Given the description of an element on the screen output the (x, y) to click on. 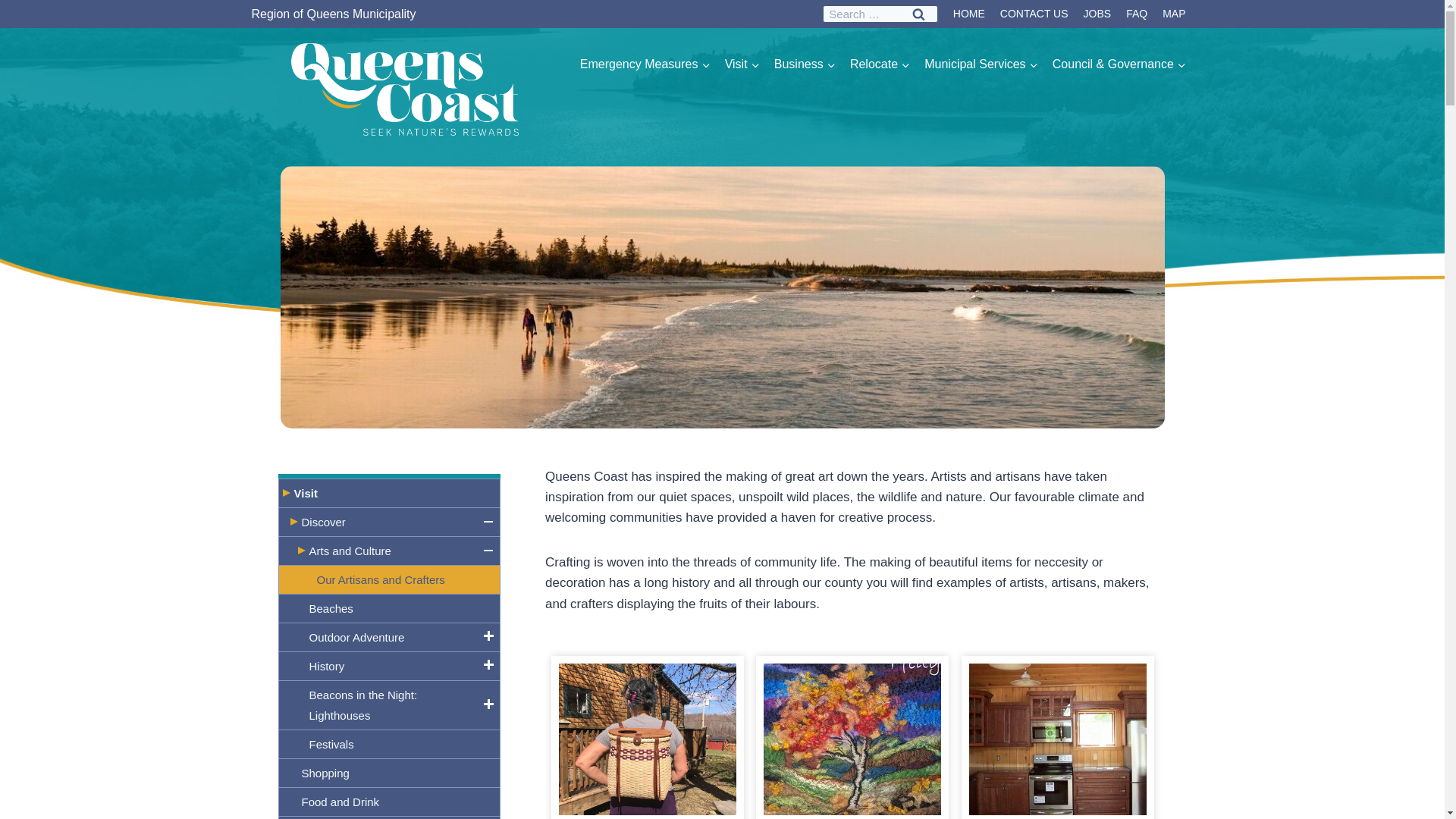
Visit (742, 63)
HOME (968, 13)
Search (918, 14)
JOBS (1097, 13)
Search (918, 14)
Search (918, 14)
Relocate (880, 63)
Business (805, 63)
FAQ (1136, 13)
CONTACT US (1033, 13)
MAP (1173, 13)
Emergency Measures (644, 63)
